Given the description of an element on the screen output the (x, y) to click on. 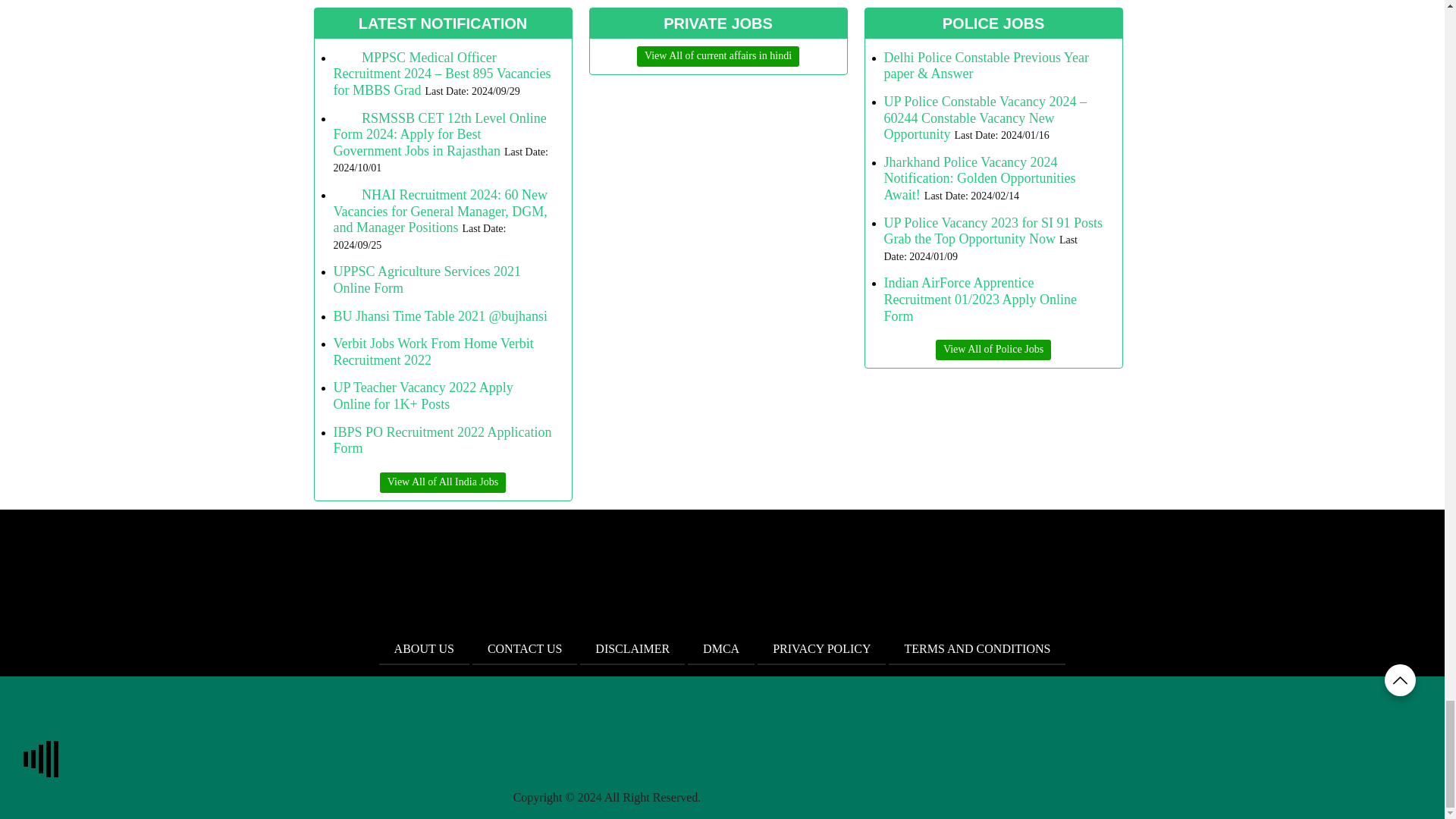
DMCA.com Protection Status (815, 797)
Category Name (993, 349)
Category Name (443, 482)
Category Name (718, 55)
